Given the description of an element on the screen output the (x, y) to click on. 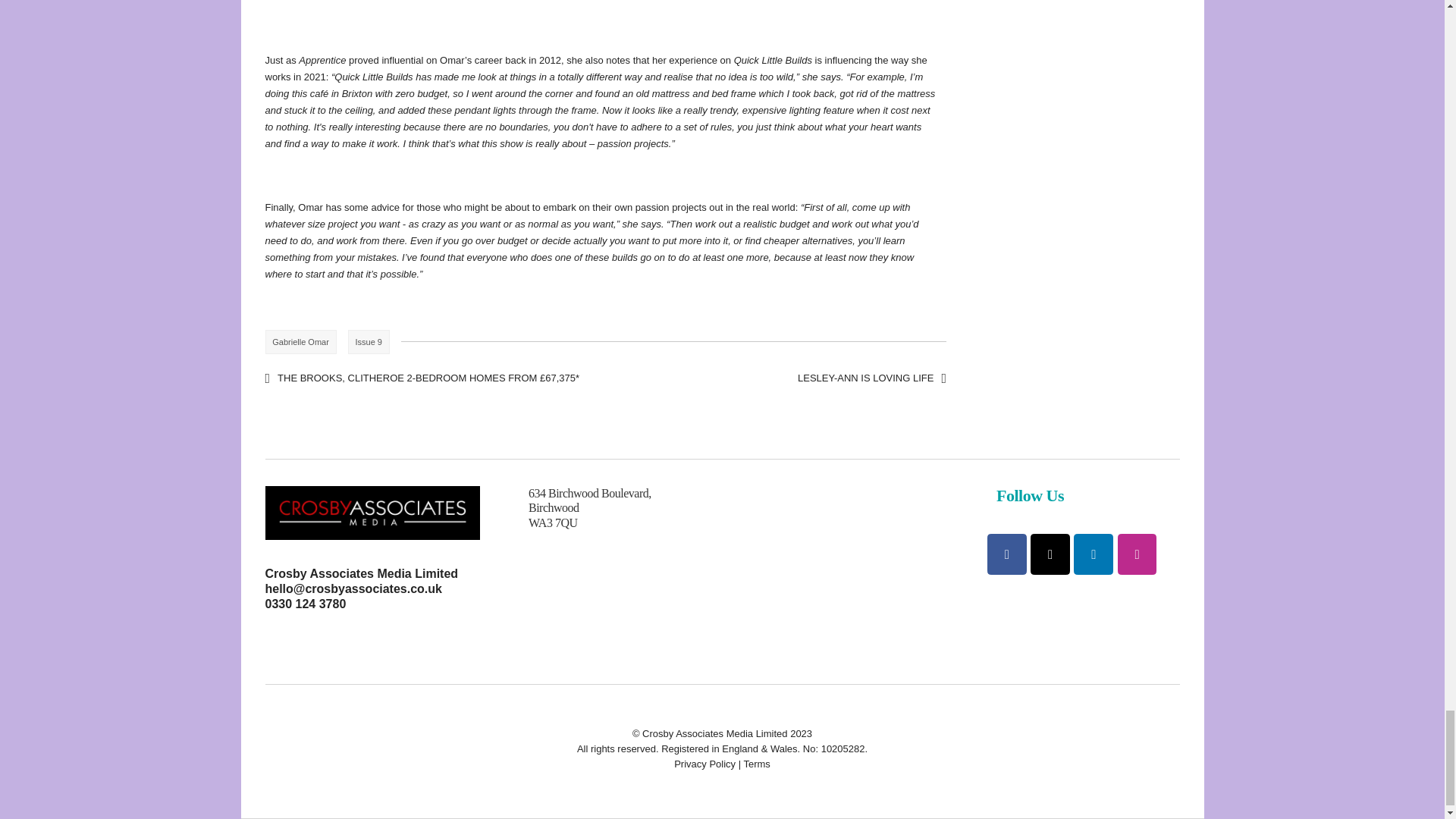
Crosby Associates Media Limited  (362, 573)
Gabrielle Omar (300, 341)
LESLEY-ANN IS LOVING LIFE (871, 377)
 on Linkedin (1093, 553)
0330 124 3780 (305, 603)
Terms (756, 763)
 on Instagram (1137, 553)
 on X Twitter (1050, 553)
Issue 9 (368, 341)
Privacy Policy (704, 763)
 on Facebook (1006, 553)
